Given the description of an element on the screen output the (x, y) to click on. 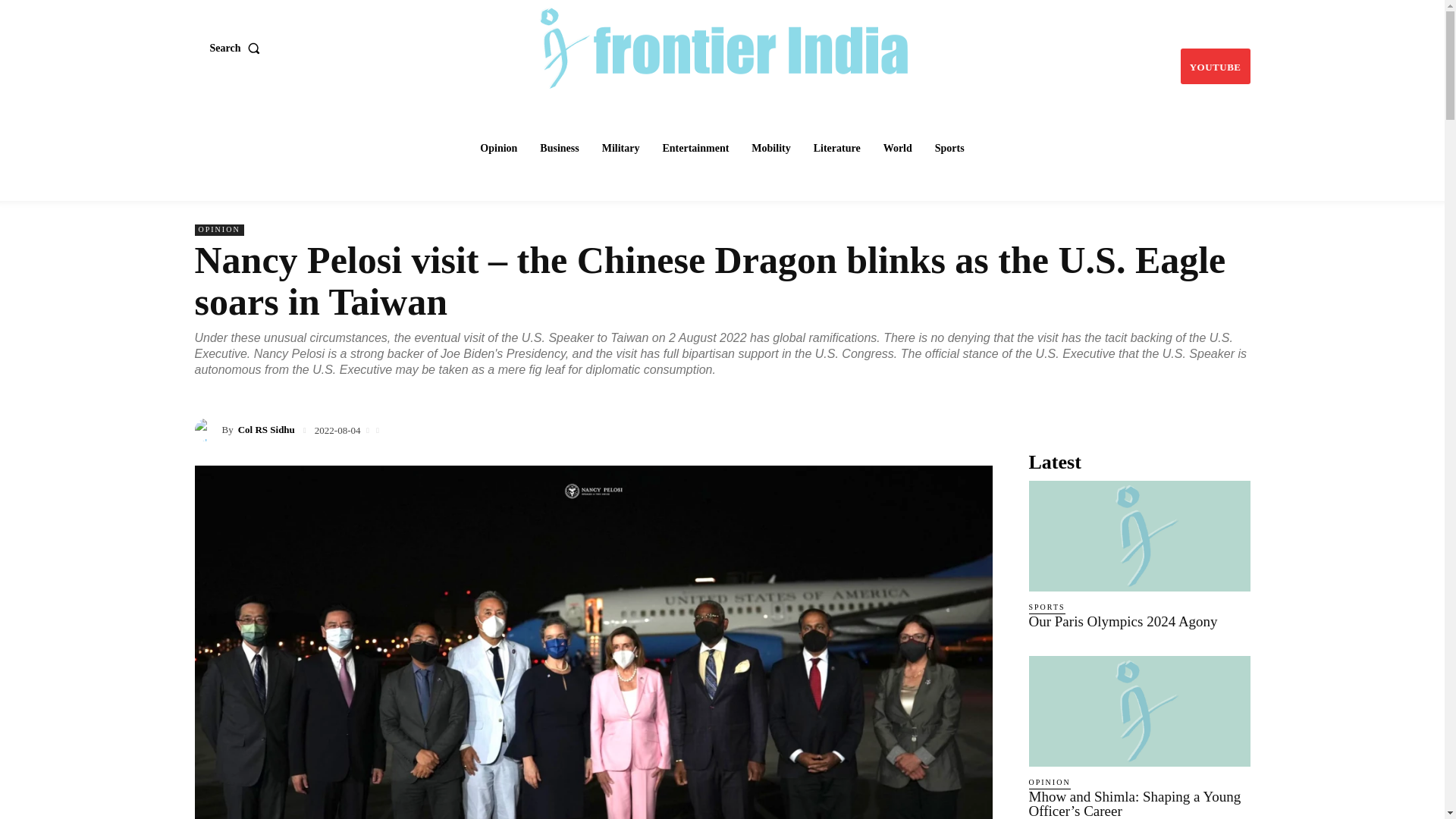
Search (237, 47)
Sports (949, 148)
YOUTUBE (1215, 66)
Business (559, 148)
YouTube (1215, 66)
Mobility (770, 148)
World (898, 148)
Literature (836, 148)
Entertainment (694, 148)
Military (620, 148)
